Given the description of an element on the screen output the (x, y) to click on. 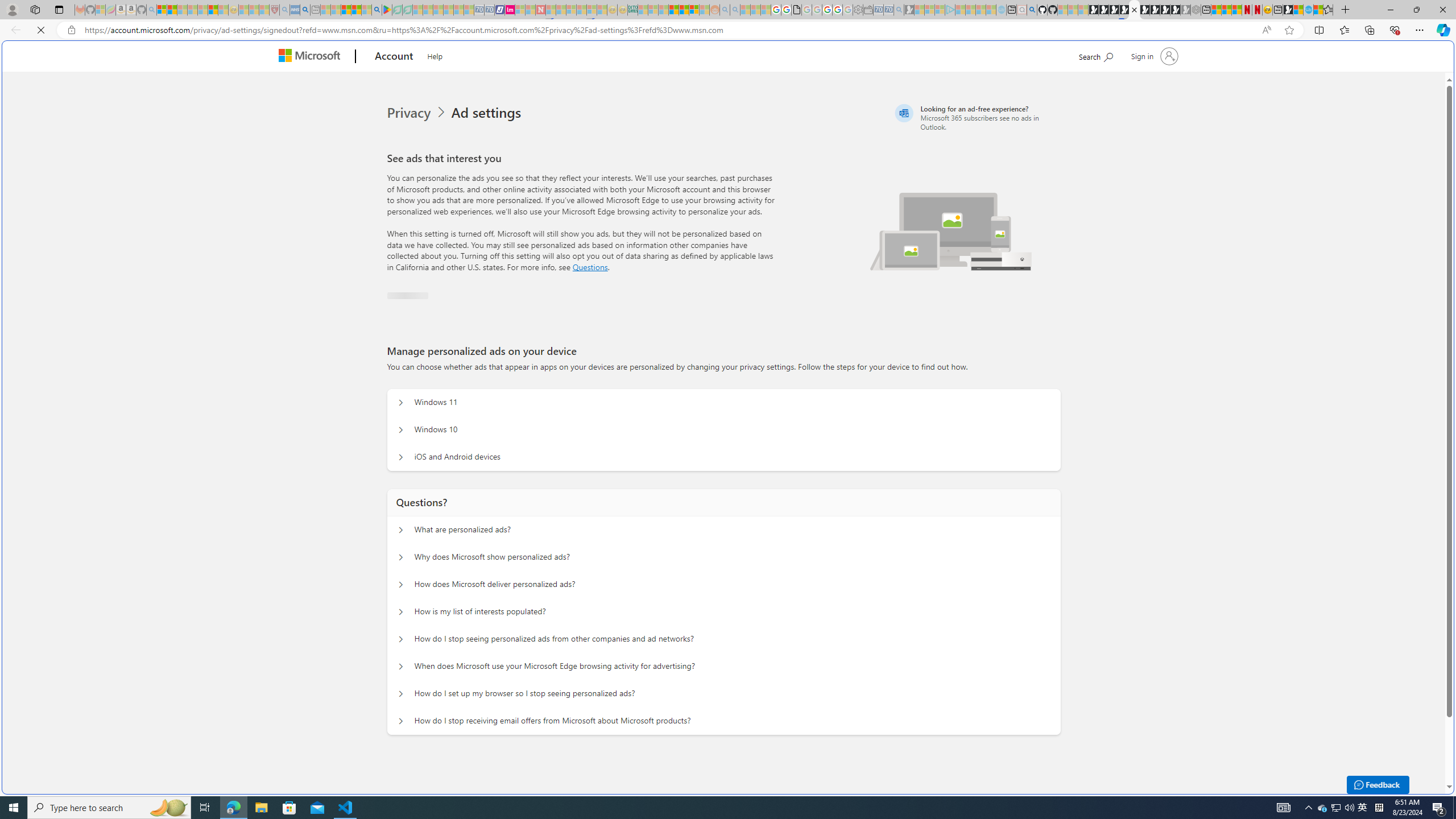
Looking for an ad-free experience? (976, 117)
google_privacy_policy_zh-CN.pdf (1118, 683)
Questions? How does Microsoft deliver personalized ads? (401, 581)
Tabs you've opened (885, 151)
Terms of Use Agreement - Sleeping (397, 9)
Bing Real Estate - Home sales and rental listings - Sleeping (898, 9)
Manage personalized ads on your device Windows 10 (401, 427)
Latest Politics News & Archive | Newsweek.com - Sleeping (539, 9)
MSN (1118, 536)
Microsoft Start Gaming - Sleeping (908, 9)
